Given the description of an element on the screen output the (x, y) to click on. 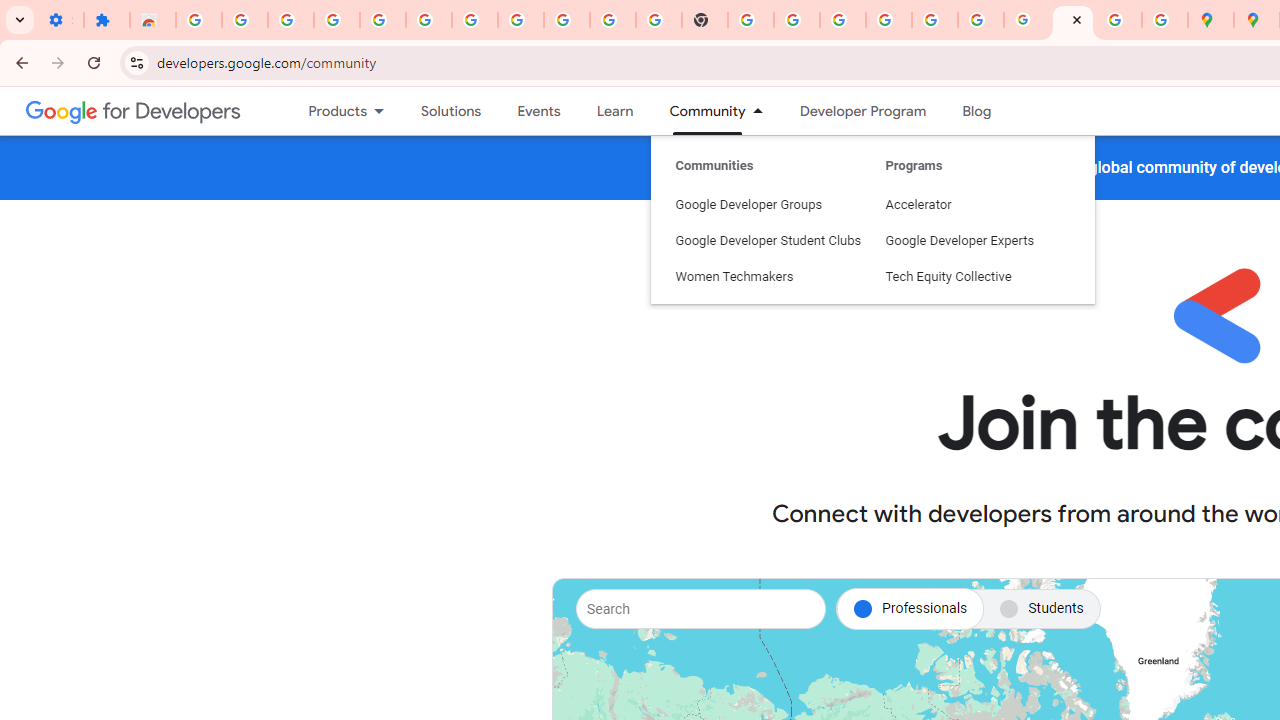
Learn how to find your photos - Google Photos Help (382, 20)
